Given the description of an element on the screen output the (x, y) to click on. 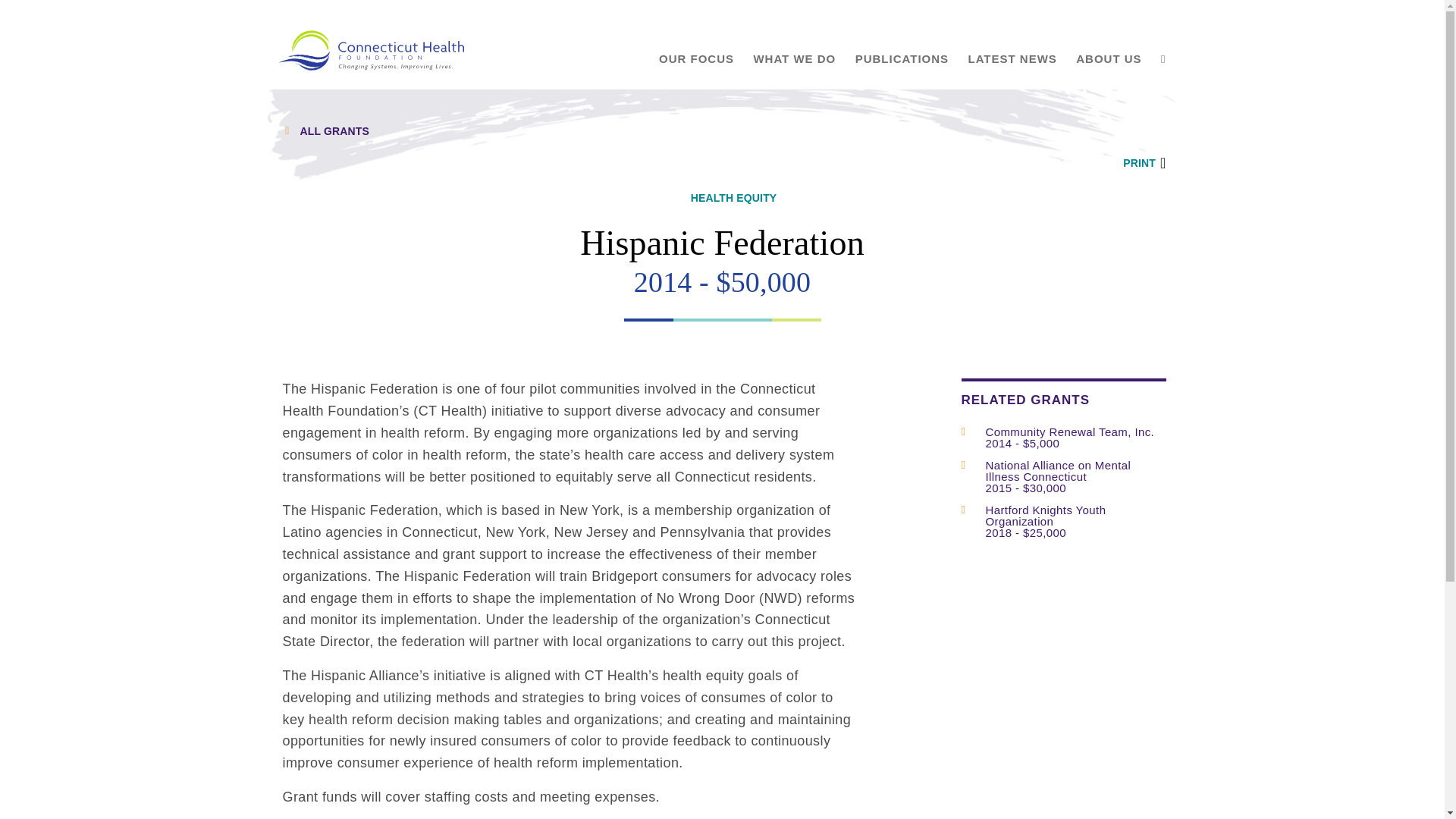
X (1120, 136)
ABOUT US (1108, 58)
LATEST NEWS (1012, 58)
PUBLICATIONS (902, 58)
OUR FOCUS (696, 58)
LinkedIn (1150, 136)
Facebook (1090, 136)
WHAT WE DO (793, 58)
